Given the description of an element on the screen output the (x, y) to click on. 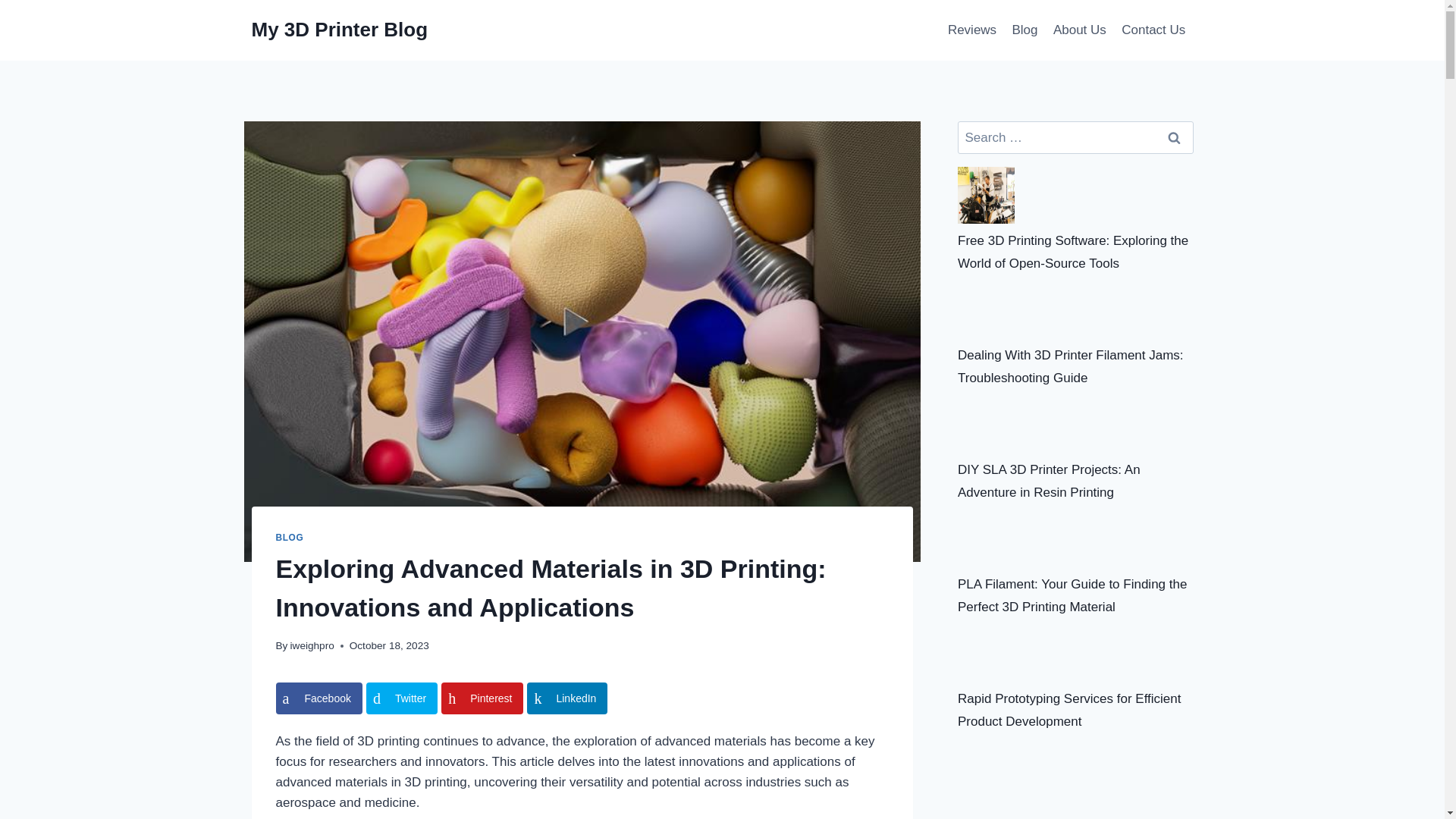
Search (1174, 137)
LinkedIn (567, 698)
Share on Twitter (402, 698)
Pinterest (481, 698)
Reviews (972, 30)
Twitter (402, 698)
Facebook (319, 698)
My 3D Printer Blog (339, 29)
BLOG (290, 537)
Share on Facebook (319, 698)
